Given the description of an element on the screen output the (x, y) to click on. 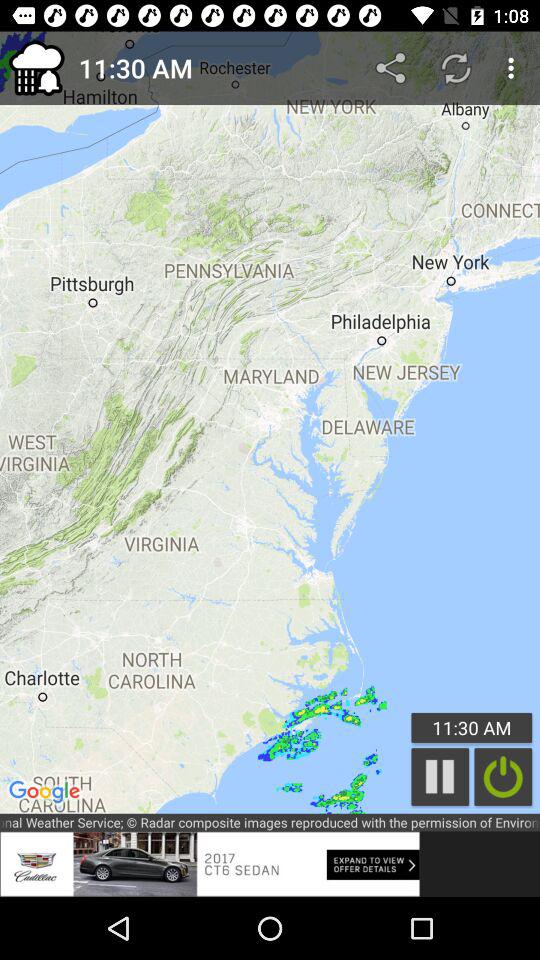
view the advertisement (210, 864)
